Given the description of an element on the screen output the (x, y) to click on. 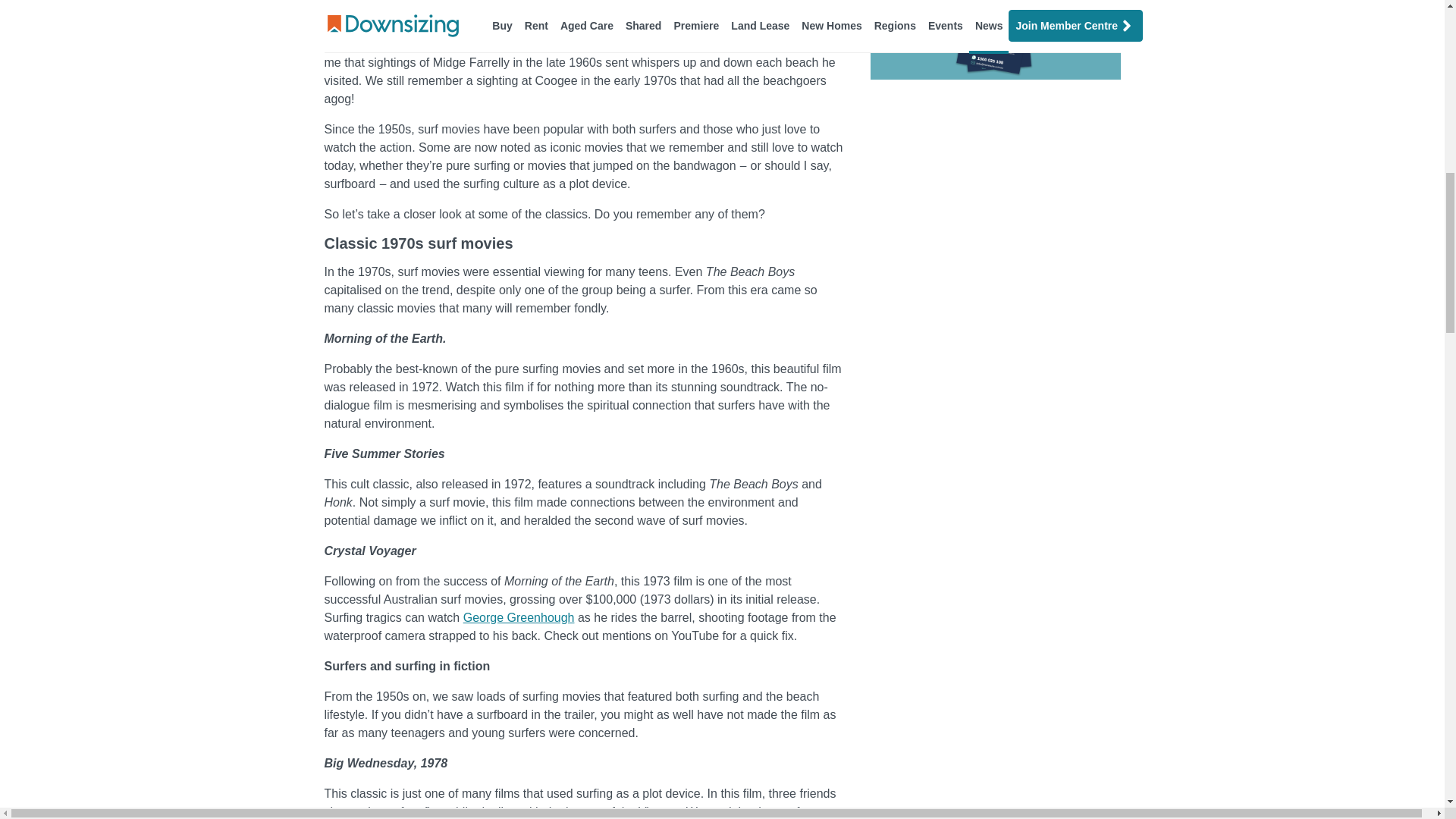
George Greenhough (519, 617)
